Given the description of an element on the screen output the (x, y) to click on. 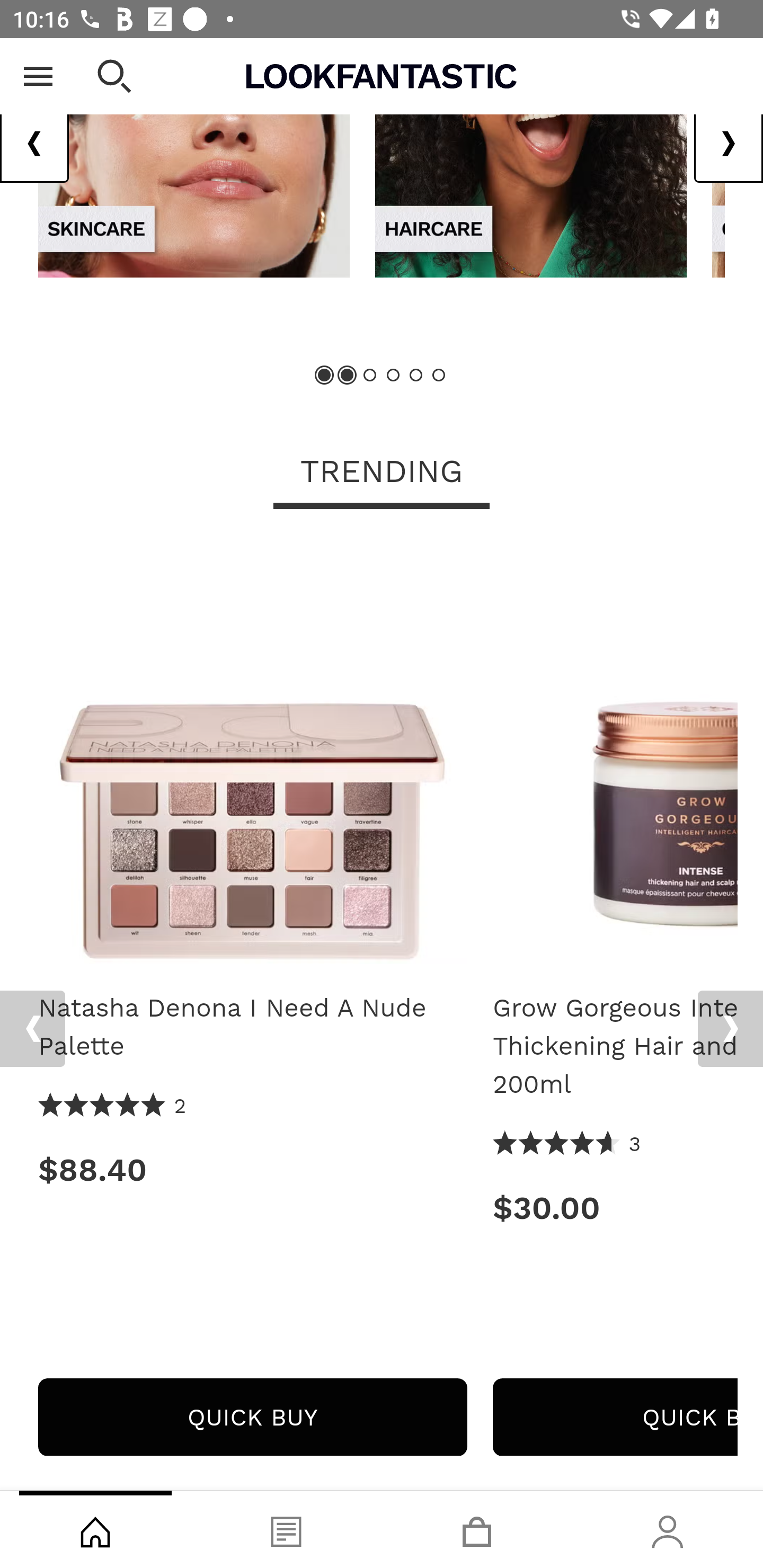
Previous (35, 144)
Next (727, 144)
Showing Slide 1 (Current Item) (324, 375)
Showing Slide 2 (Current Item) (347, 375)
Slide 3 (369, 375)
Slide 4 (393, 375)
Slide 5 (415, 375)
Slide 6 (437, 375)
TRENDING (381, 473)
Natasha Denona I Need A Nude Palette (252, 755)
Natasha Denona I Need A Nude Palette (252, 1026)
Previous (32, 1028)
Next (730, 1028)
5.0 Stars 2 Reviews (112, 1106)
4.67 Stars 3 Reviews (567, 1144)
Price: $88.40 (252, 1170)
Price: $30.00 (614, 1207)
QUICK BUY NATASHA DENONA I NEED A NUDE PALETTE (252, 1417)
Shop, tab, 1 of 4 (95, 1529)
Blog, tab, 2 of 4 (285, 1529)
Basket, tab, 3 of 4 (476, 1529)
Account, tab, 4 of 4 (667, 1529)
